Given the description of an element on the screen output the (x, y) to click on. 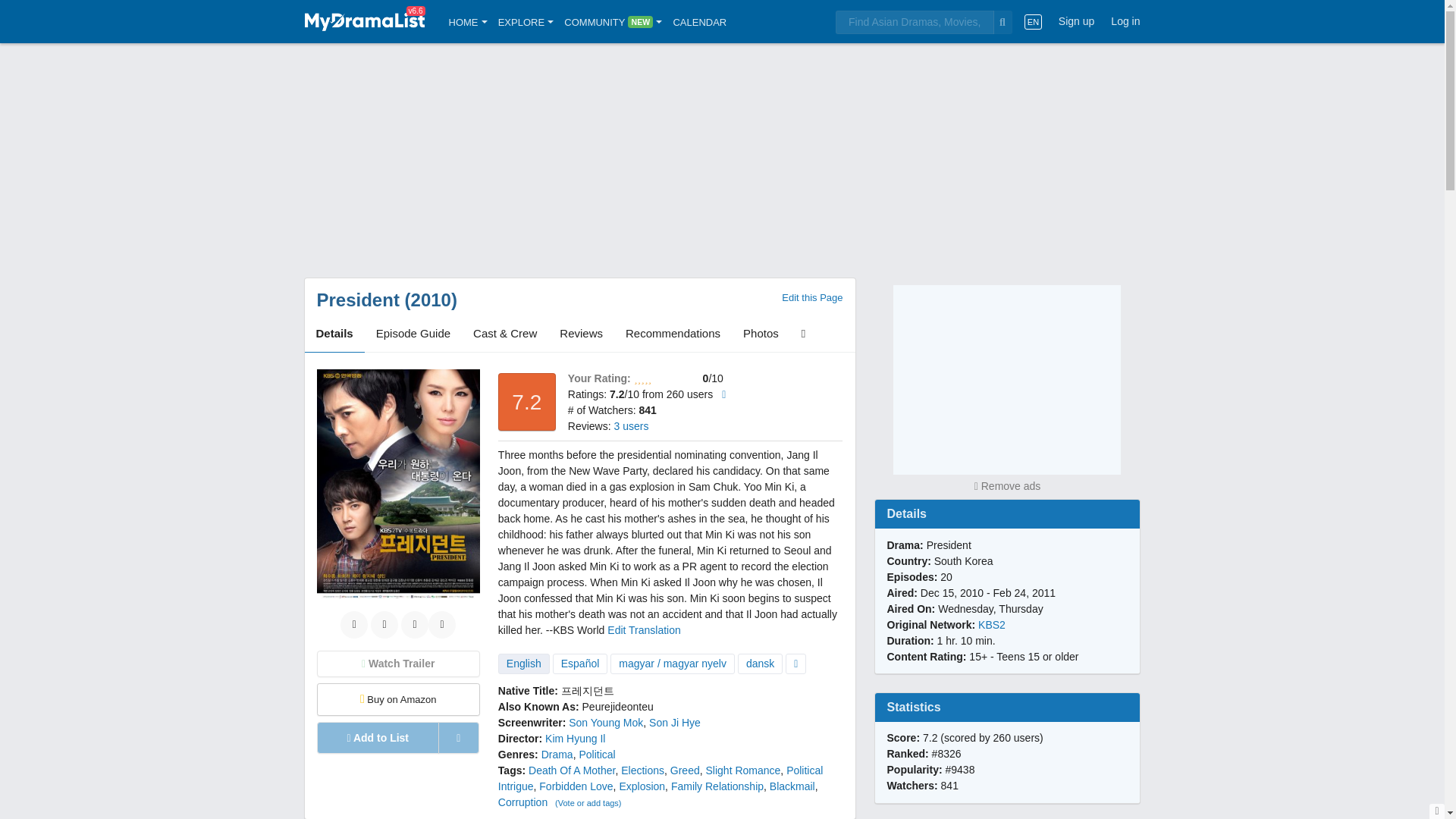
HOME (467, 21)
v6.6 (364, 21)
President (357, 299)
Peurejideonteu (617, 706)
